Given the description of an element on the screen output the (x, y) to click on. 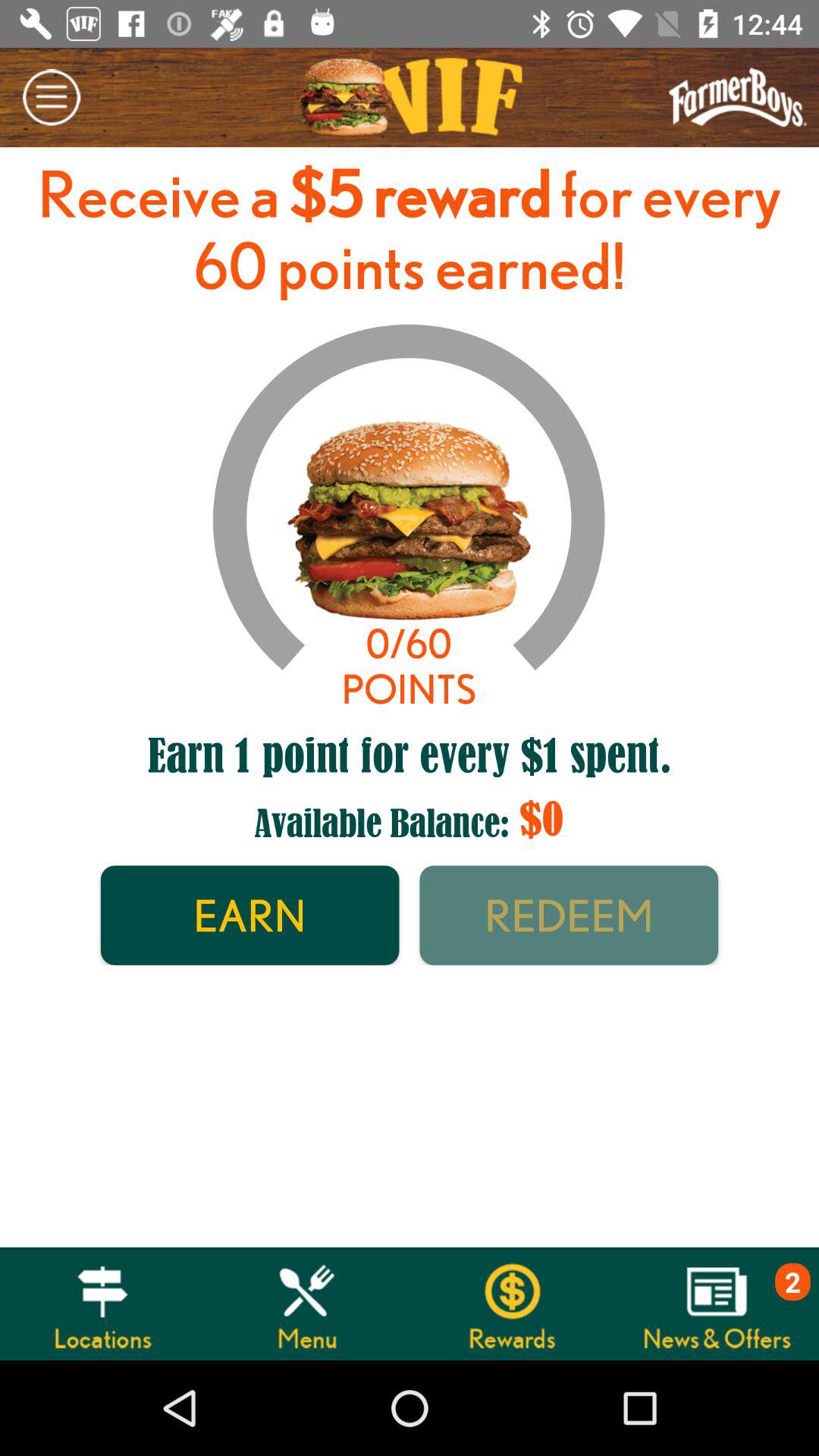
select the icon above the receive a 5 item (51, 96)
